Given the description of an element on the screen output the (x, y) to click on. 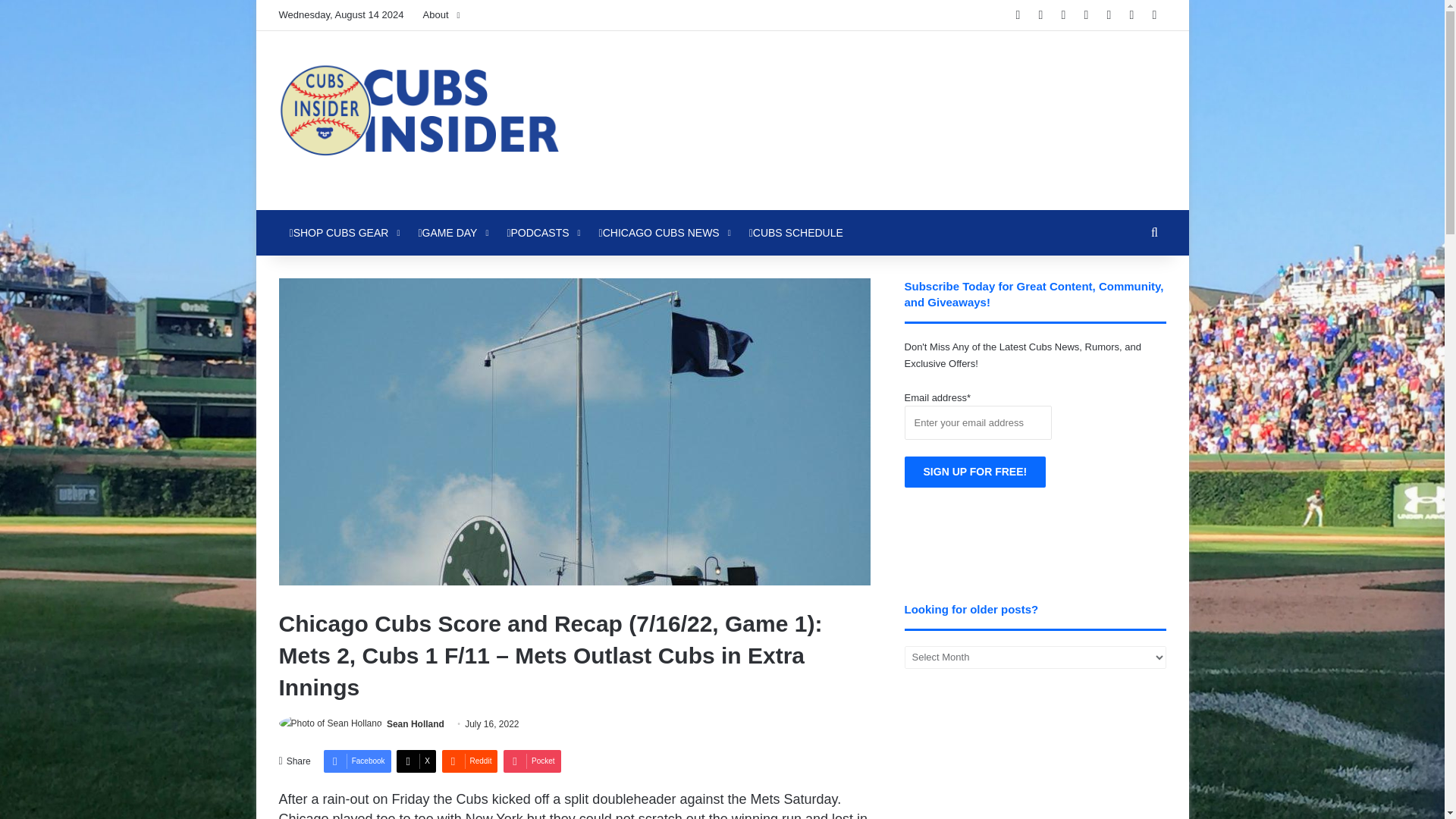
X (415, 761)
Facebook (357, 761)
Pocket (531, 761)
Sean Holland (415, 724)
CUBS SCHEDULE (795, 232)
SIGN UP FOR FREE! (975, 471)
X (415, 761)
Pocket (531, 761)
Reddit (469, 761)
GAME DAY (451, 232)
